Given the description of an element on the screen output the (x, y) to click on. 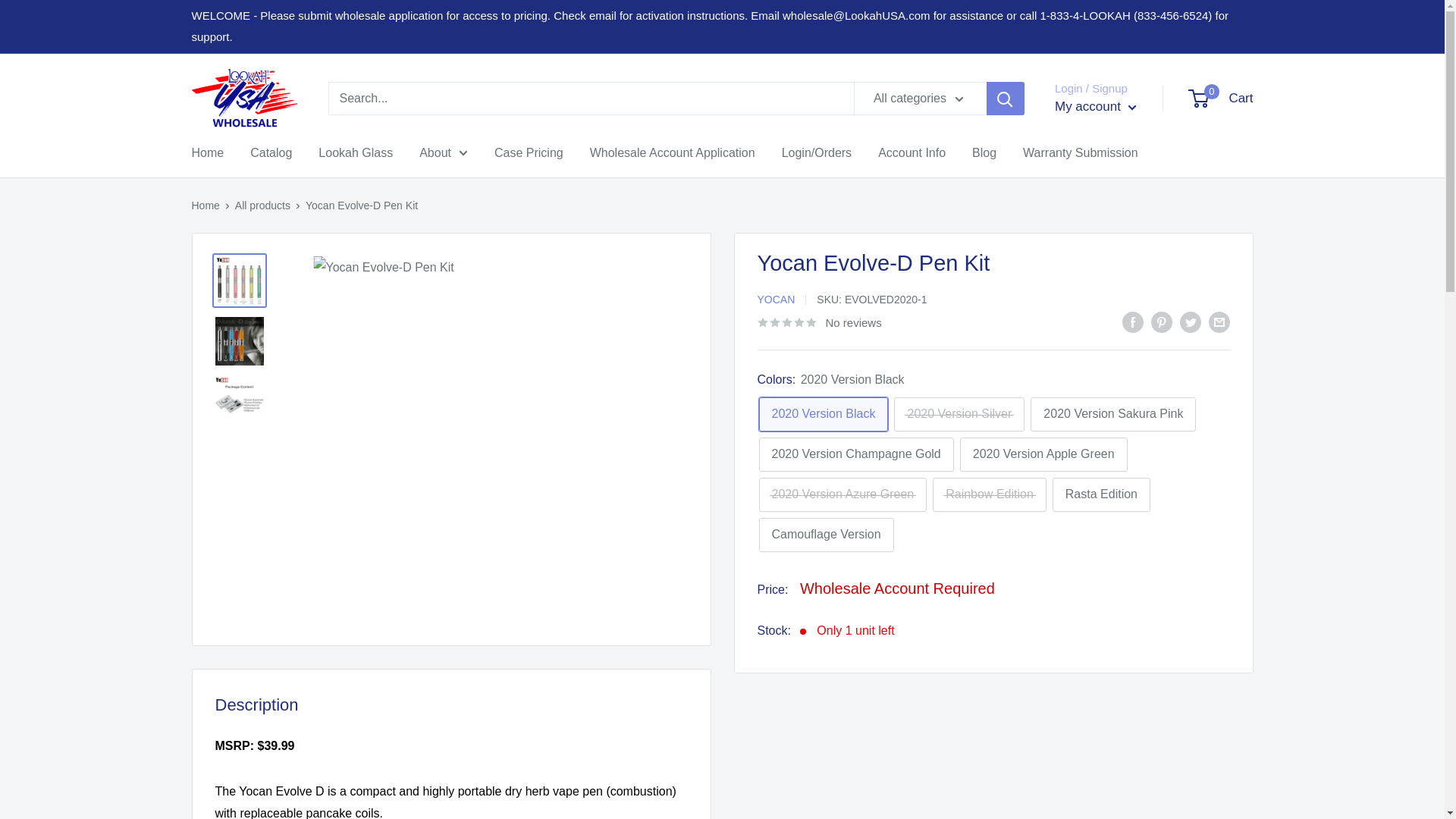
Rasta Edition (1101, 494)
Home (207, 152)
Lookah Glass (1221, 98)
Catalog (355, 152)
Rainbow Edition (271, 152)
About (989, 494)
Camouflage Version (443, 152)
2020 Version Black (825, 534)
Lookah USA Wholesale (823, 414)
My account (243, 98)
2020 Version Sakura Pink (1095, 106)
2020 Version Silver (1112, 414)
2020 Version Champagne Gold (959, 414)
2020 Version Azure Green (855, 454)
